Given the description of an element on the screen output the (x, y) to click on. 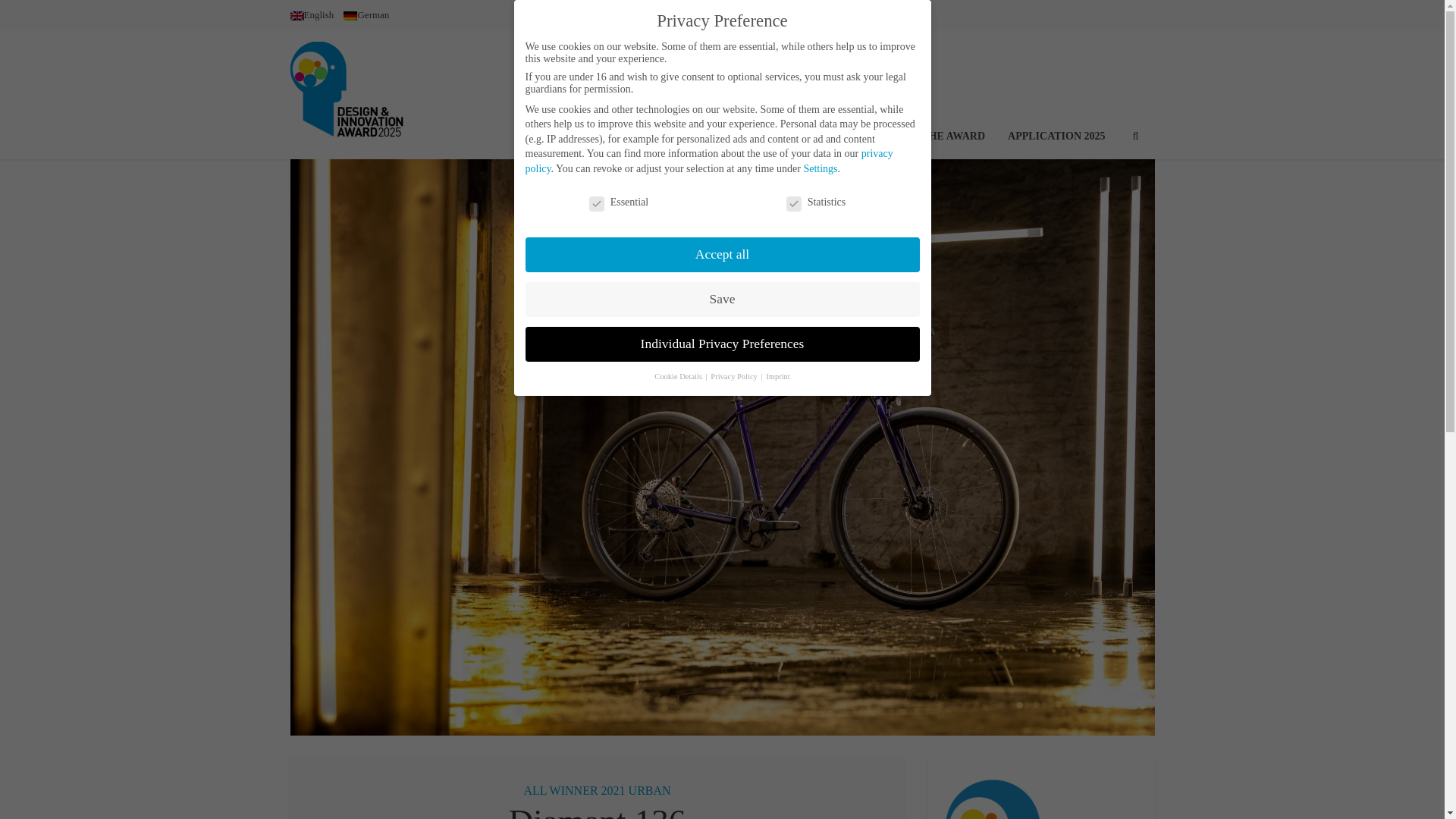
privacy policy (708, 161)
Accept all (721, 254)
Imprint (777, 376)
English (311, 14)
Privacy Policy (734, 376)
TEST LOCATIONS (812, 94)
Individual Privacy Preferences (721, 343)
Save (721, 298)
Cookie Details (678, 376)
Open Cookie Preferences (32, 799)
APPLICATION 2025 (1055, 94)
URBAN (649, 789)
English (311, 14)
Settings (820, 168)
ABOUT THE AWARD (932, 94)
